Given the description of an element on the screen output the (x, y) to click on. 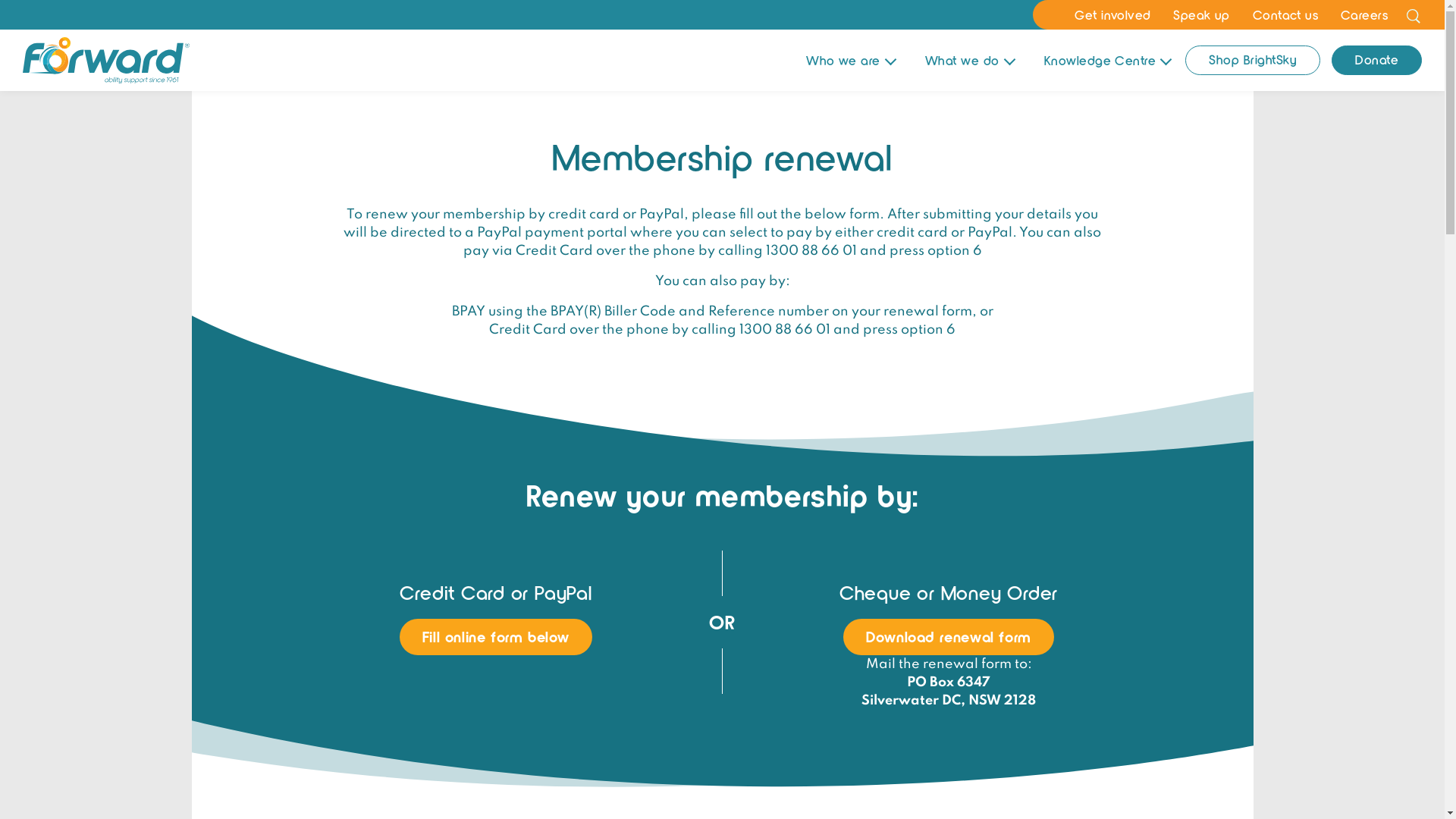
Knowledge Centre Element type: text (1107, 60)
Search Element type: hover (1413, 14)
Shop BrightSky Element type: text (1252, 60)
Download renewal form Element type: text (948, 636)
Contact us Element type: text (1285, 14)
What we do Element type: text (969, 60)
Who we are Element type: text (850, 60)
Fill online form below Element type: text (495, 636)
Careers Element type: text (1364, 14)
Get involved Element type: text (1112, 14)
Donate Element type: text (1376, 60)
Speak up Element type: text (1200, 14)
